Given the description of an element on the screen output the (x, y) to click on. 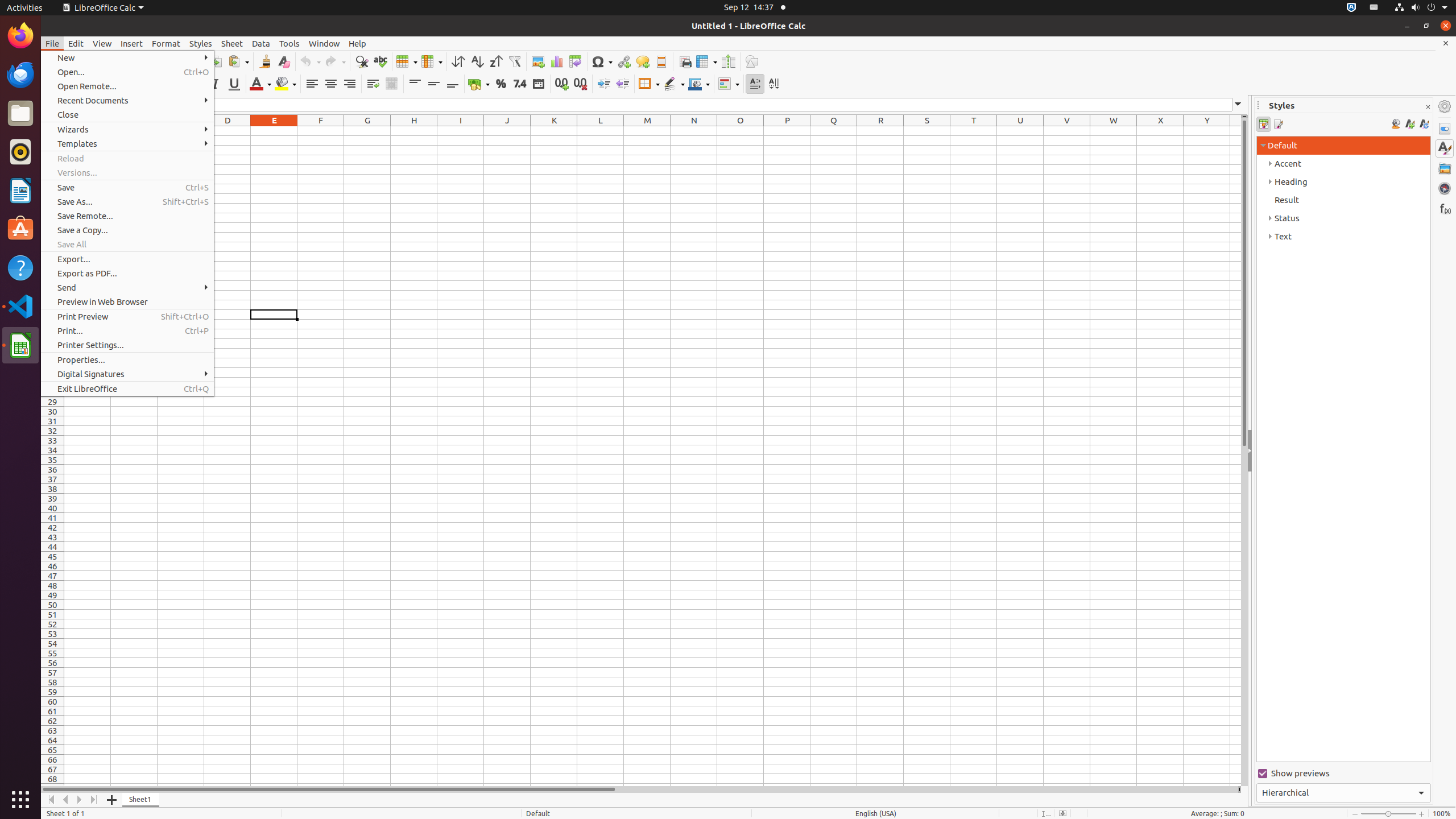
Save All Element type: menu-item (126, 244)
Move Left Element type: push-button (65, 799)
Close Element type: menu-item (126, 114)
Open... Element type: menu-item (126, 71)
Show previews Element type: check-box (1343, 773)
